Given the description of an element on the screen output the (x, y) to click on. 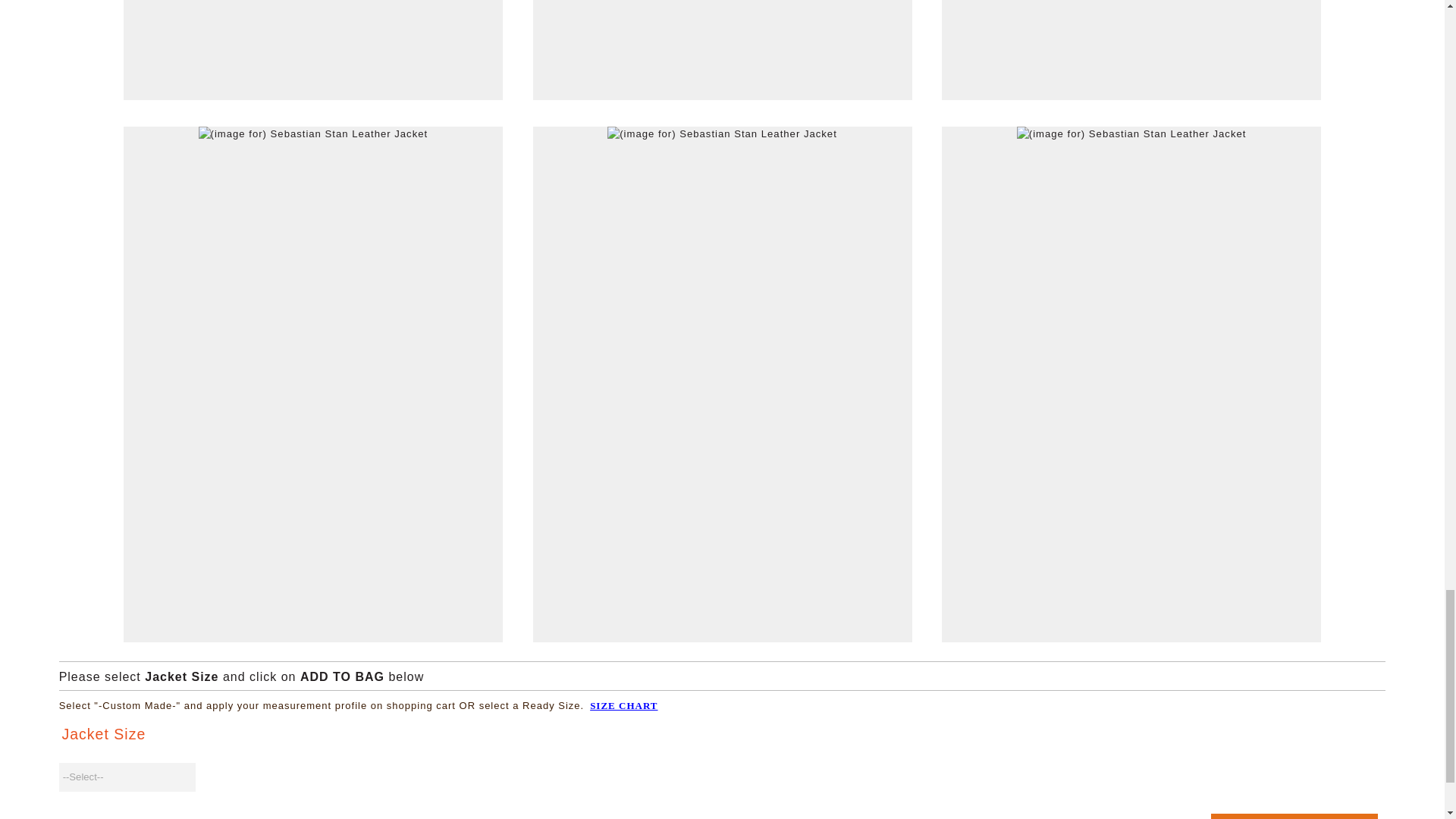
Add to Bag (1294, 816)
